Given the description of an element on the screen output the (x, y) to click on. 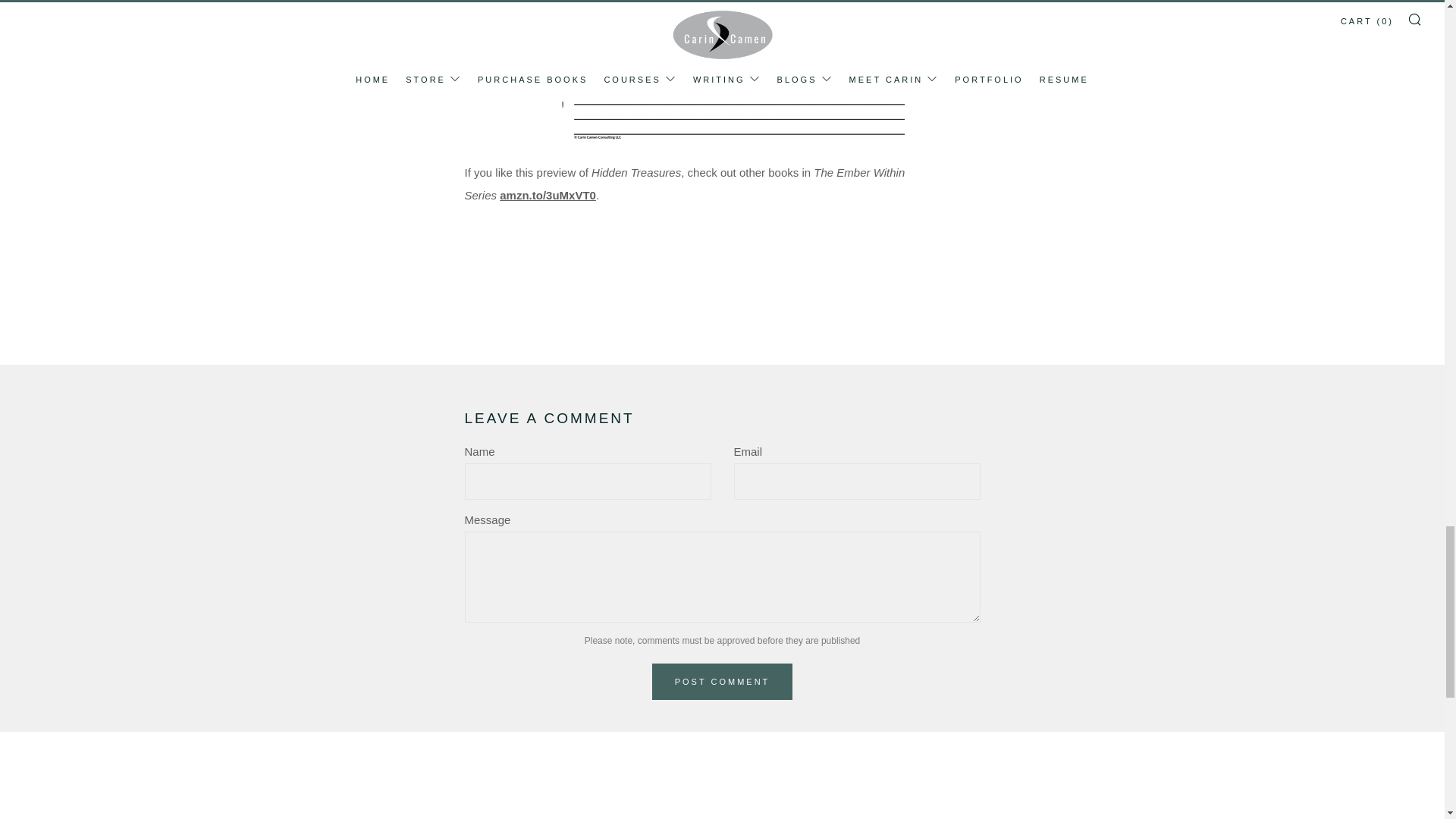
Carin Camen The Ember Within Series on Amazon (569, 195)
Post comment (722, 681)
Carin Camen The Ember Within Series on Amazon (521, 195)
